Given the description of an element on the screen output the (x, y) to click on. 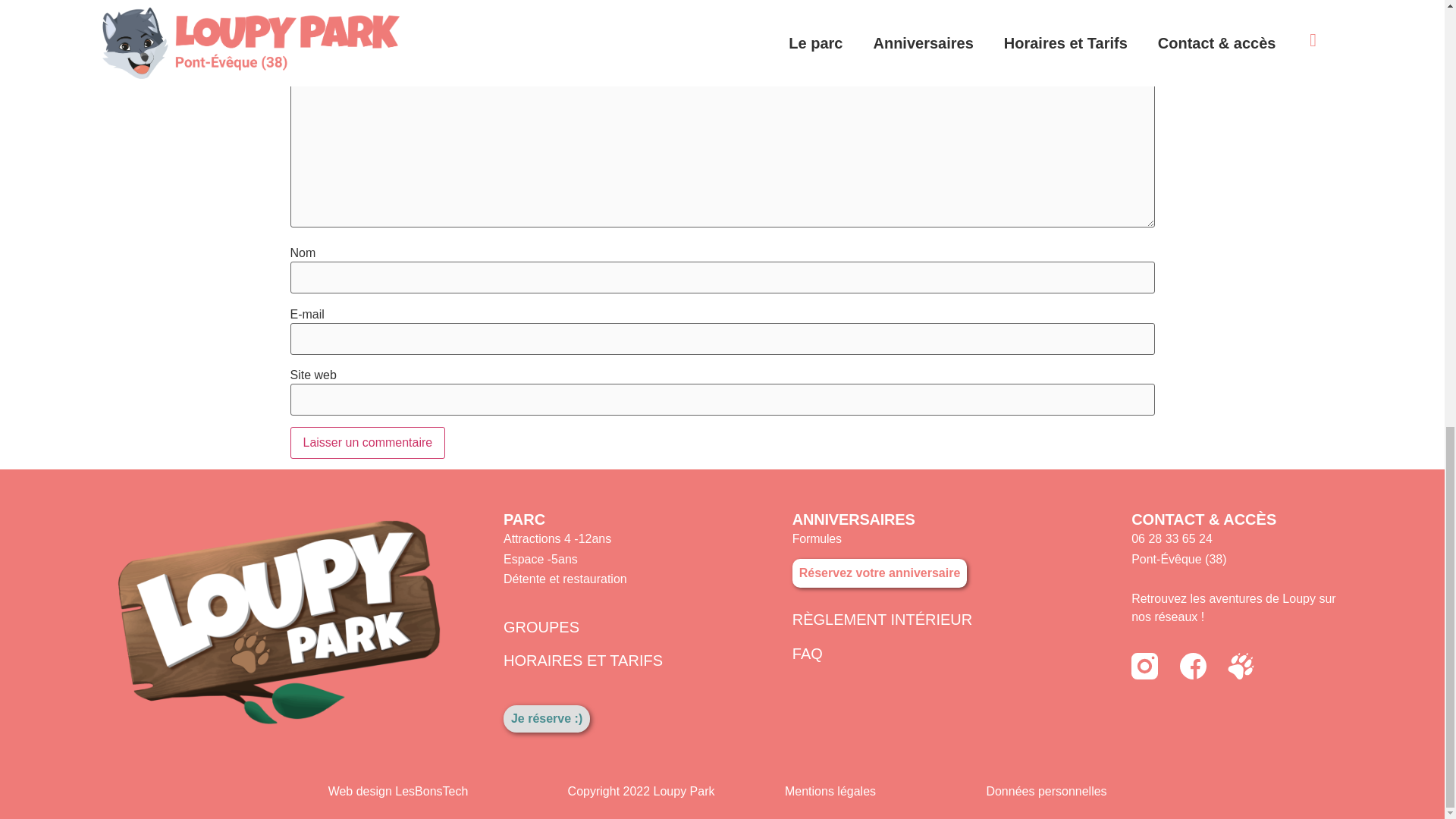
Laisser un commentaire (367, 442)
PARC (523, 519)
Attractions 4 -12ans (557, 538)
Laisser un commentaire (367, 442)
